Given the description of an element on the screen output the (x, y) to click on. 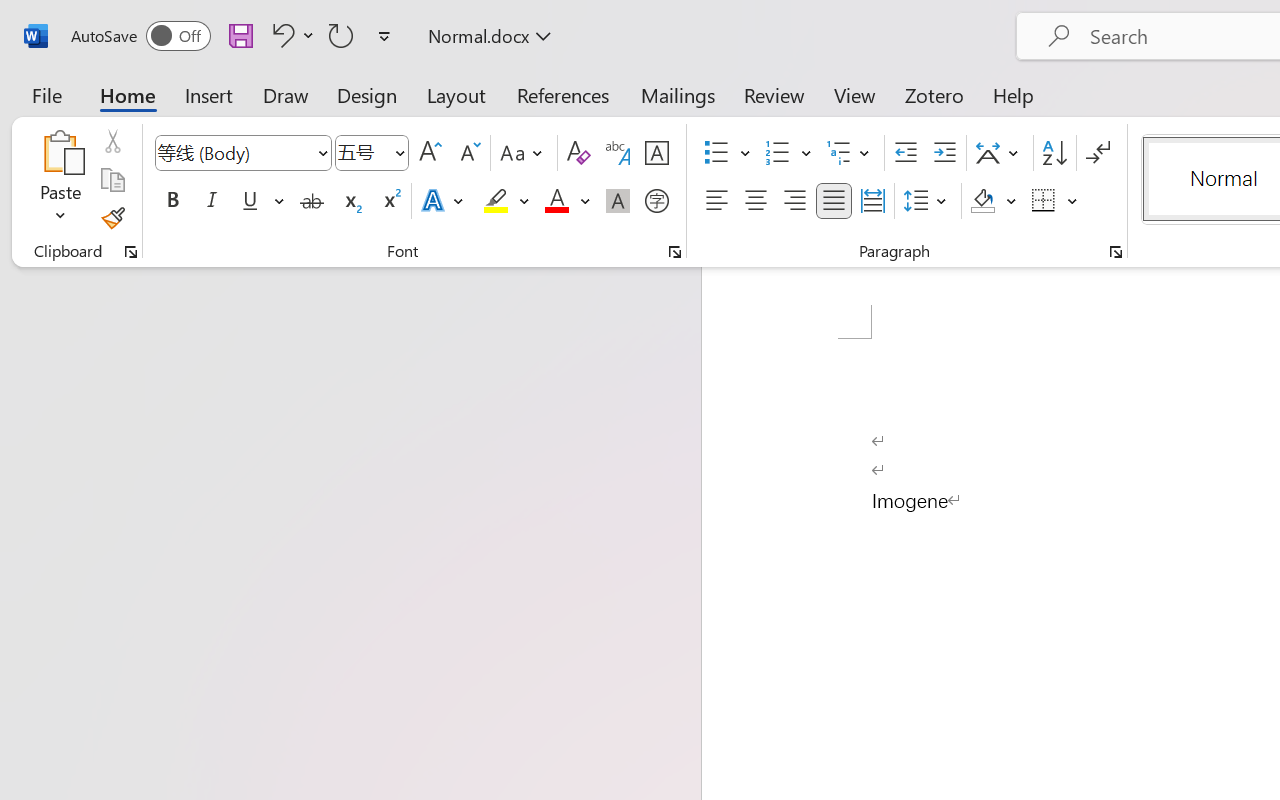
Align Left (716, 201)
Show/Hide Editing Marks (1098, 153)
Paragraph... (1115, 252)
Phonetic Guide... (618, 153)
Sort... (1054, 153)
Text Highlight Color (506, 201)
Shading (993, 201)
Open (399, 152)
Increase Indent (944, 153)
